Given the description of an element on the screen output the (x, y) to click on. 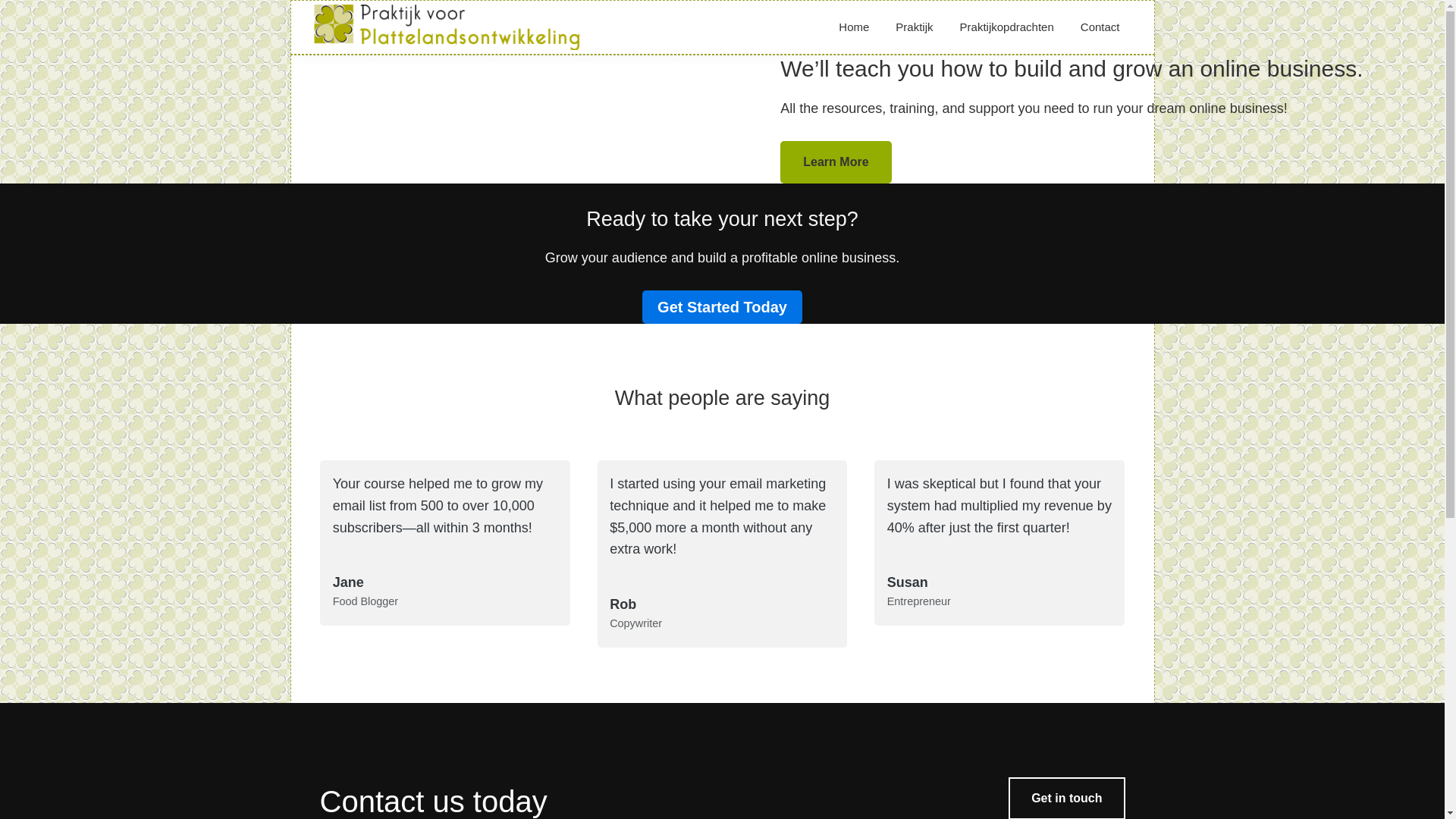
Learn More (835, 161)
Praktijkopdrachten (1007, 26)
Contact (1099, 26)
Home (853, 26)
Get in touch (1066, 798)
Praktijk (913, 26)
Get Started Today (722, 306)
